Given the description of an element on the screen output the (x, y) to click on. 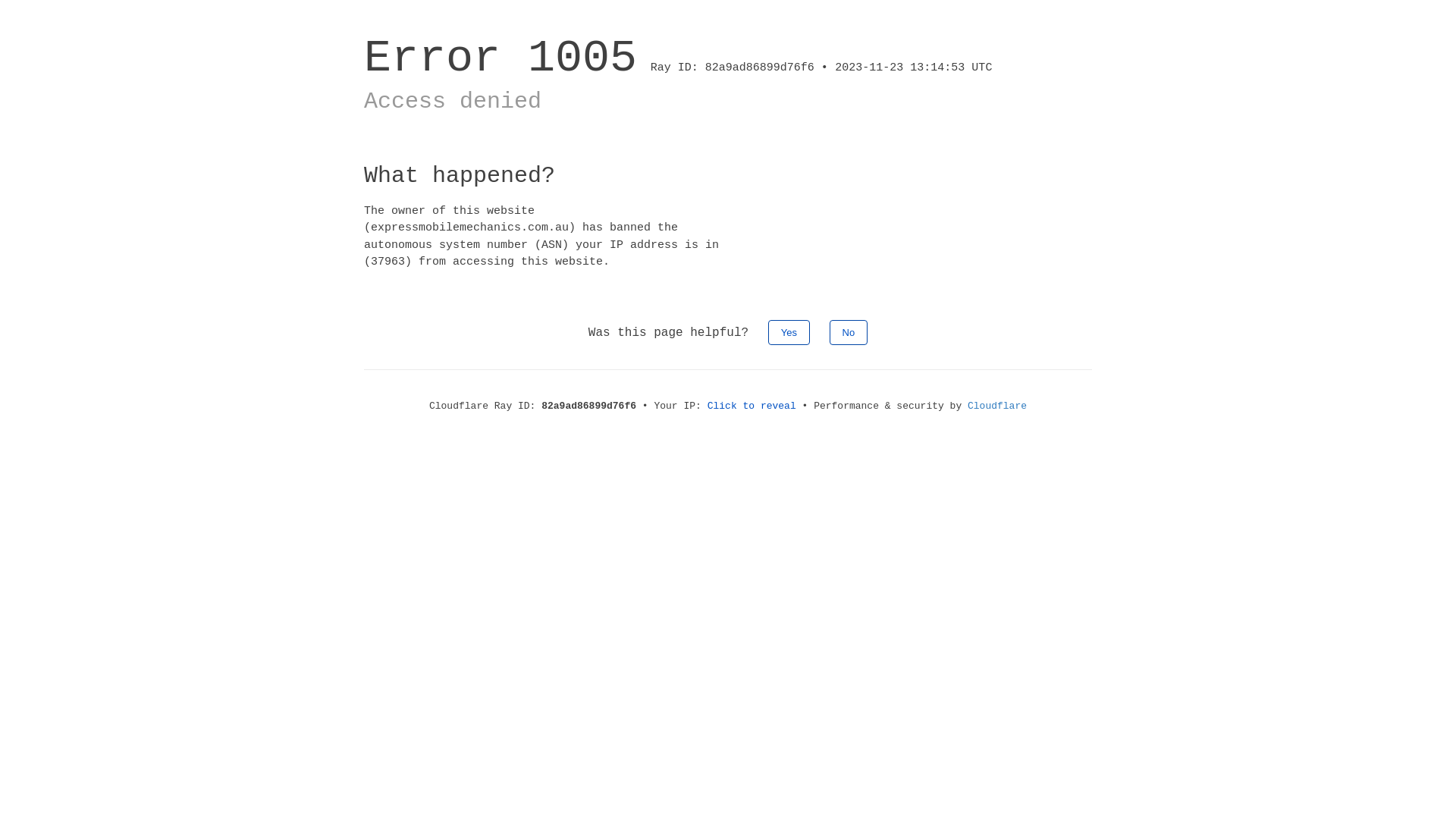
Yes Element type: text (788, 332)
Cloudflare Element type: text (996, 405)
No Element type: text (848, 332)
Click to reveal Element type: text (751, 405)
